Given the description of an element on the screen output the (x, y) to click on. 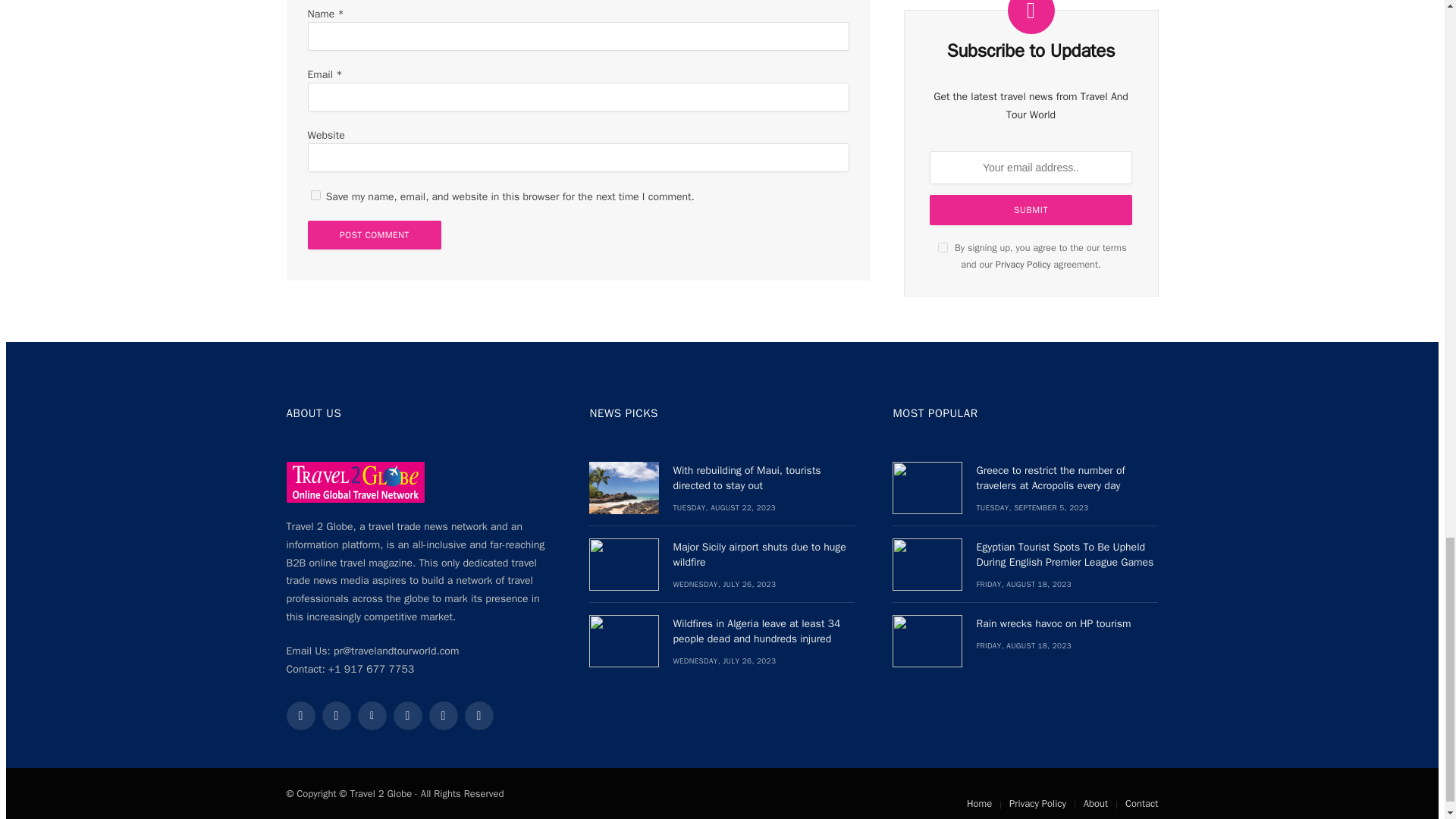
With rebuilding of Maui, tourists directed to stay out (624, 487)
Submit (1031, 195)
Post Comment (374, 234)
yes (315, 194)
Major Sicily airport shuts due to huge wildfire (624, 564)
Rain wrecks havoc on HP tourism (927, 641)
on (942, 234)
